Given the description of an element on the screen output the (x, y) to click on. 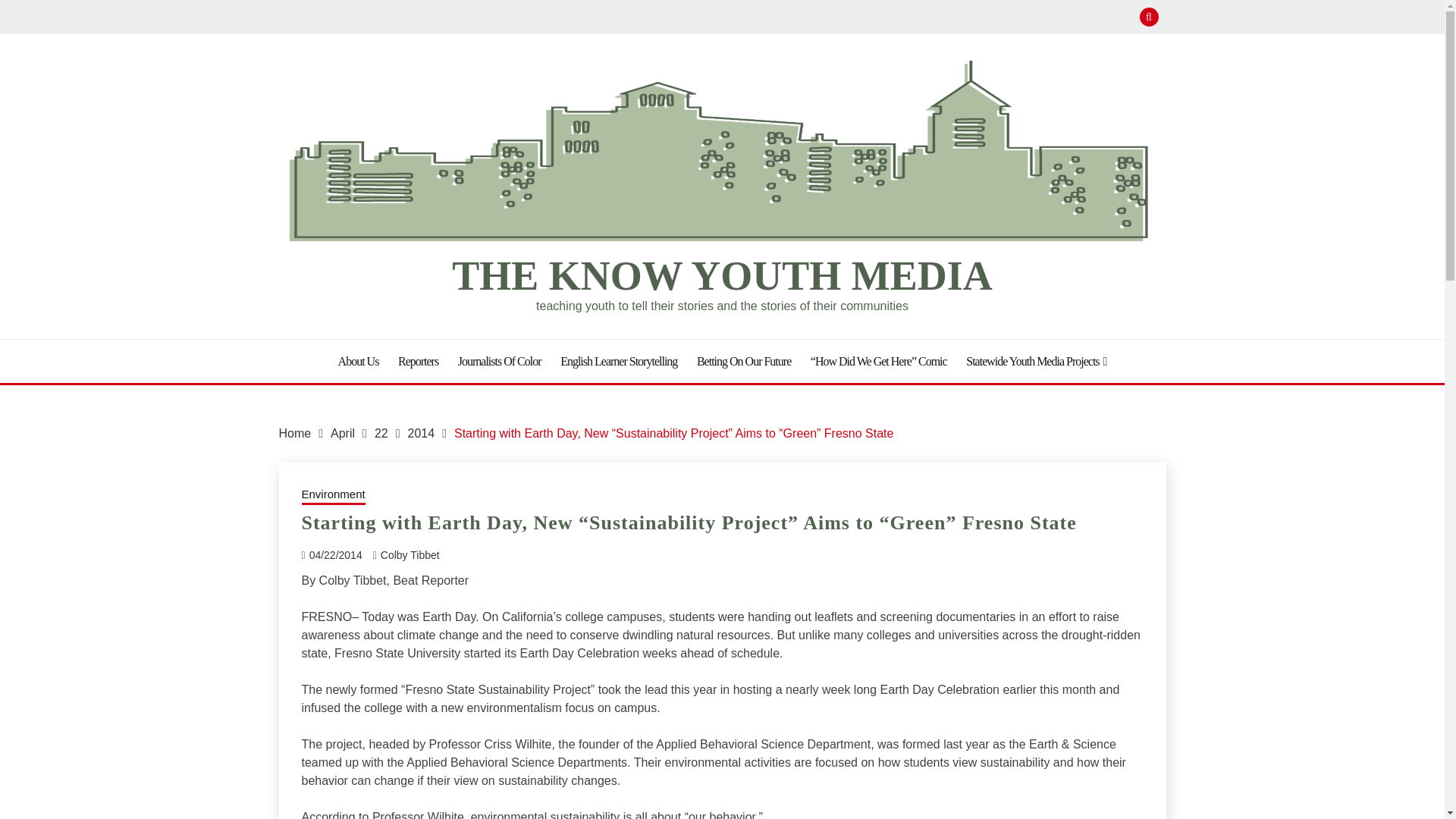
Journalists Of Color (499, 361)
Betting On Our Future (743, 361)
About Us (357, 361)
2014 (421, 432)
22 (381, 432)
THE KNOW YOUTH MEDIA (721, 275)
Colby Tibbet (409, 554)
Search (832, 18)
Reporters (417, 361)
Environment (333, 496)
Home (295, 432)
English Learner Storytelling (618, 361)
Statewide Youth Media Projects (1036, 361)
April (342, 432)
